Given the description of an element on the screen output the (x, y) to click on. 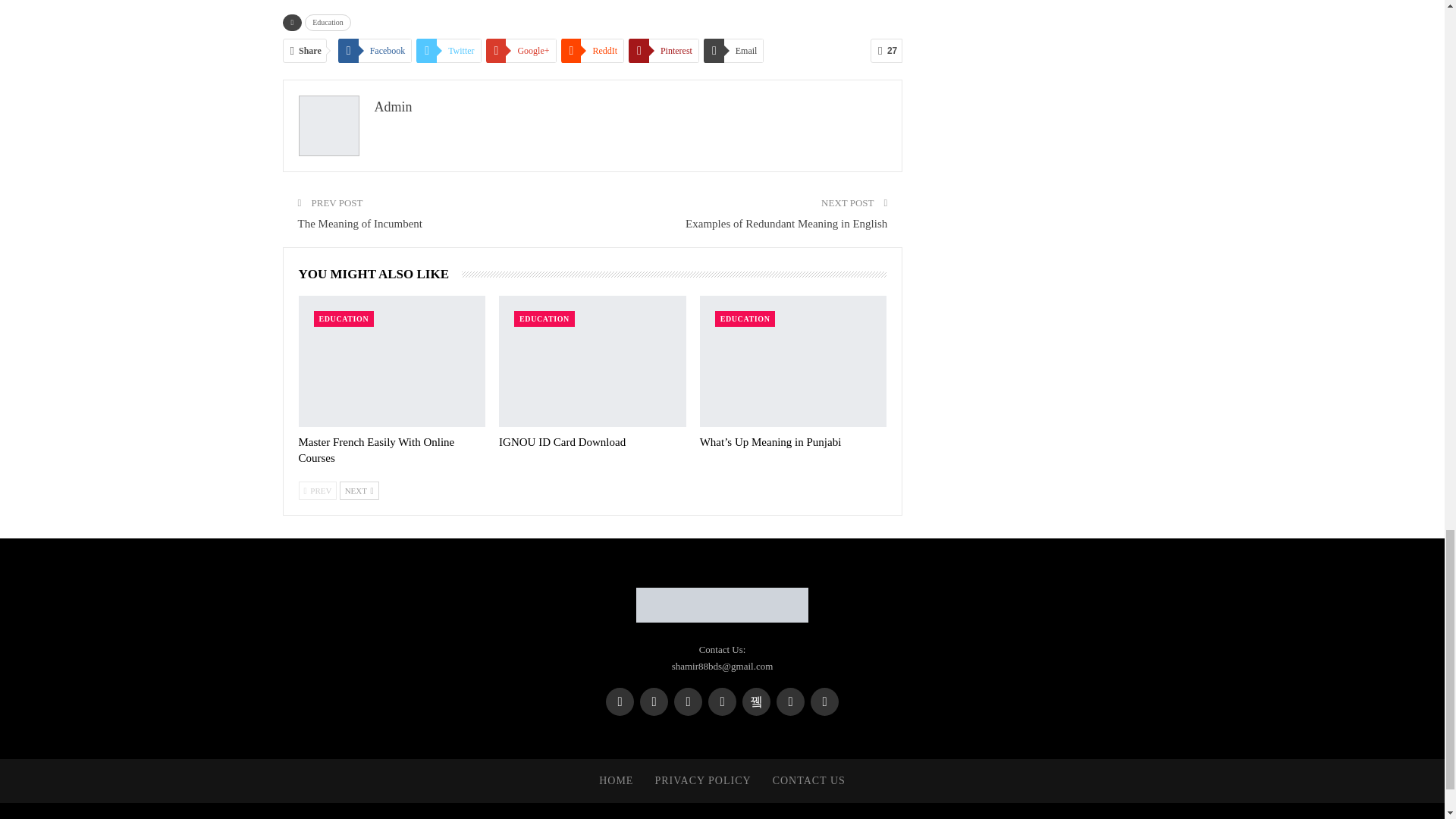
Next (358, 490)
IGNOU ID Card Download (562, 441)
Master French Easily With Online Courses (376, 449)
IGNOU ID Card Download (592, 360)
Previous (317, 490)
Master French Easily With Online Courses (392, 360)
